Given the description of an element on the screen output the (x, y) to click on. 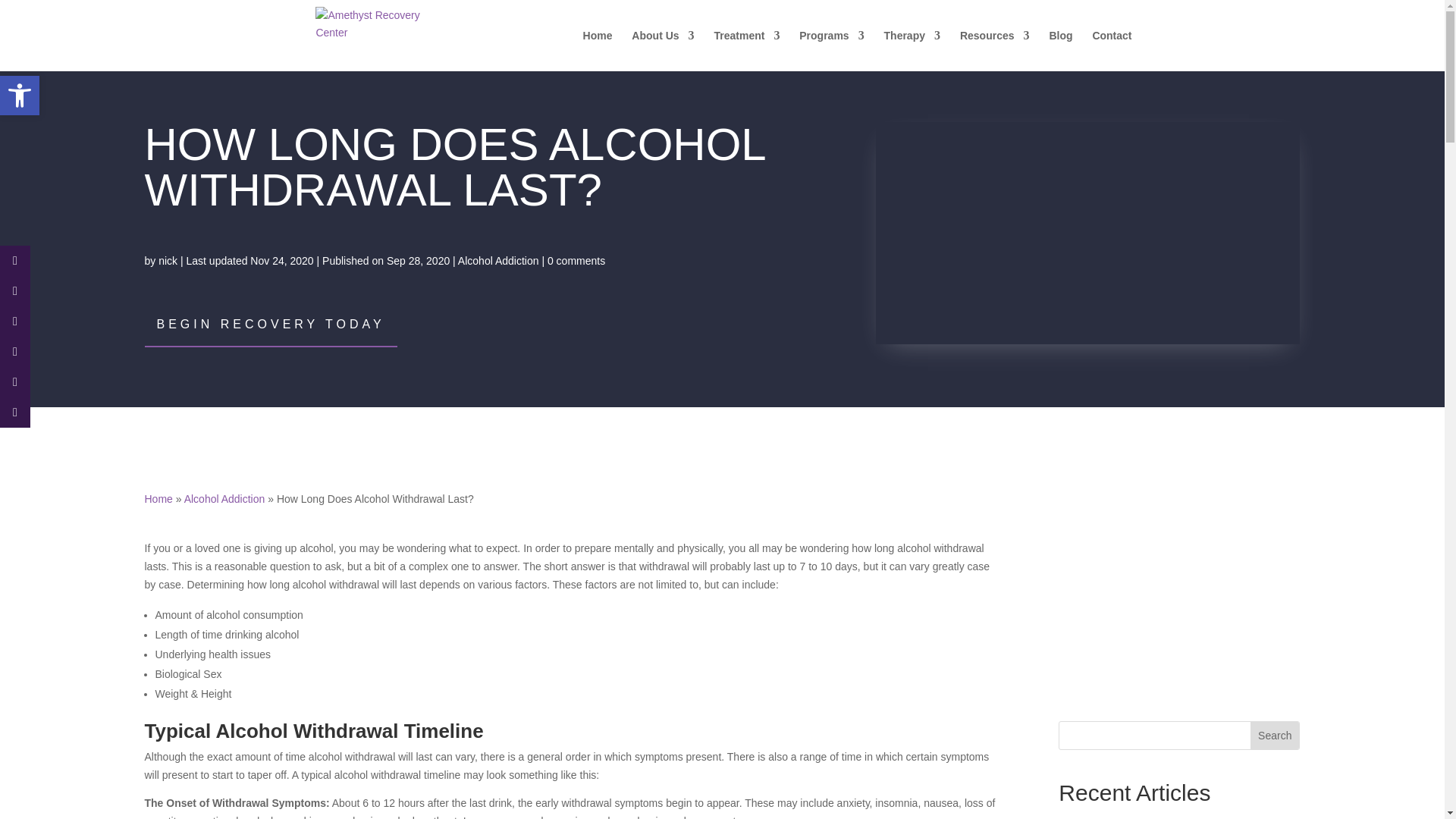
About Us (662, 50)
Blog (1059, 50)
Search (1274, 735)
Resources (994, 50)
Therapy (911, 50)
Accessibility Tools (19, 95)
nick (167, 260)
Contact (1111, 50)
Accessibility Tools (19, 95)
Home (597, 50)
